Given the description of an element on the screen output the (x, y) to click on. 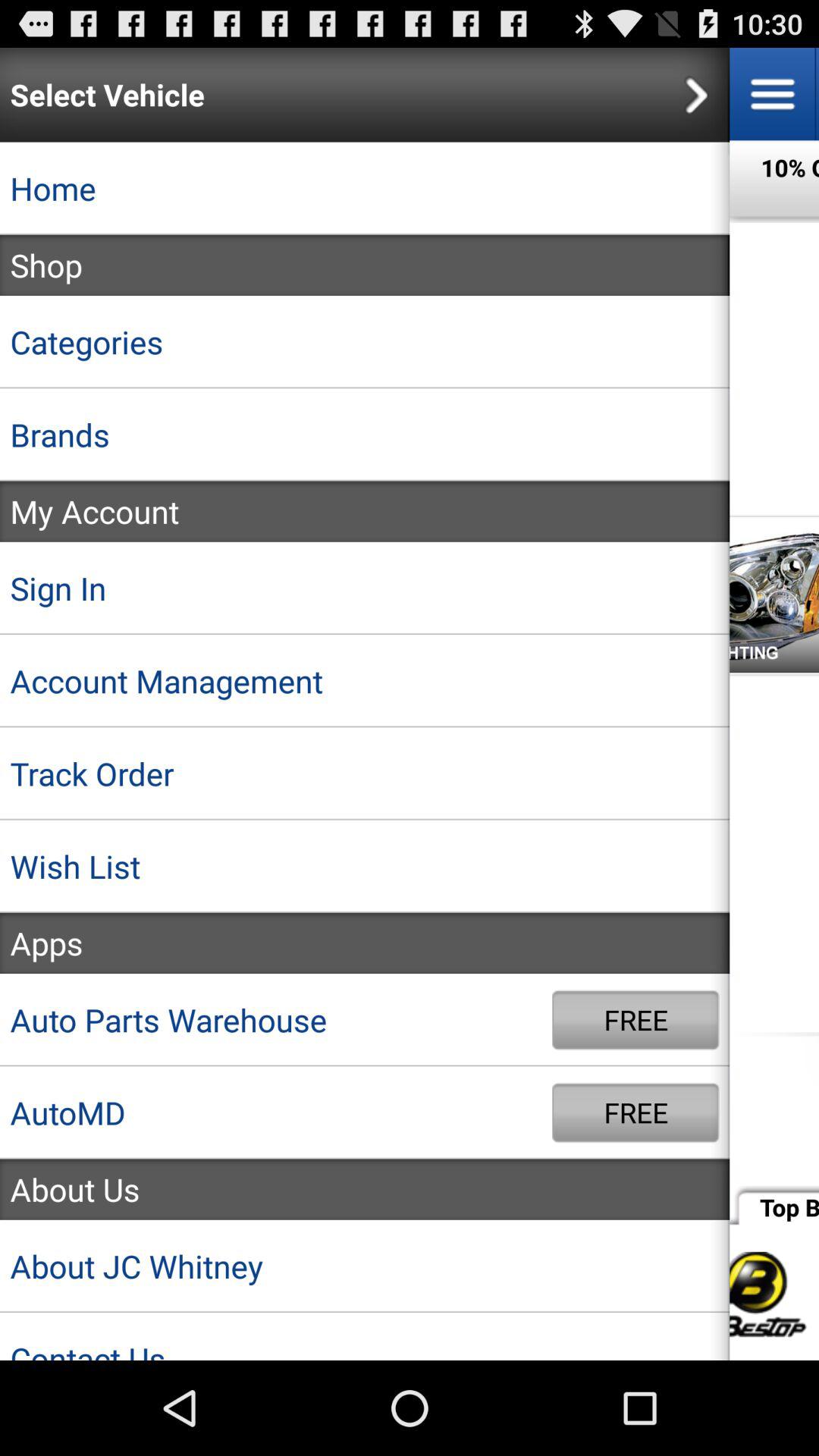
jump until the about us app (364, 1189)
